Given the description of an element on the screen output the (x, y) to click on. 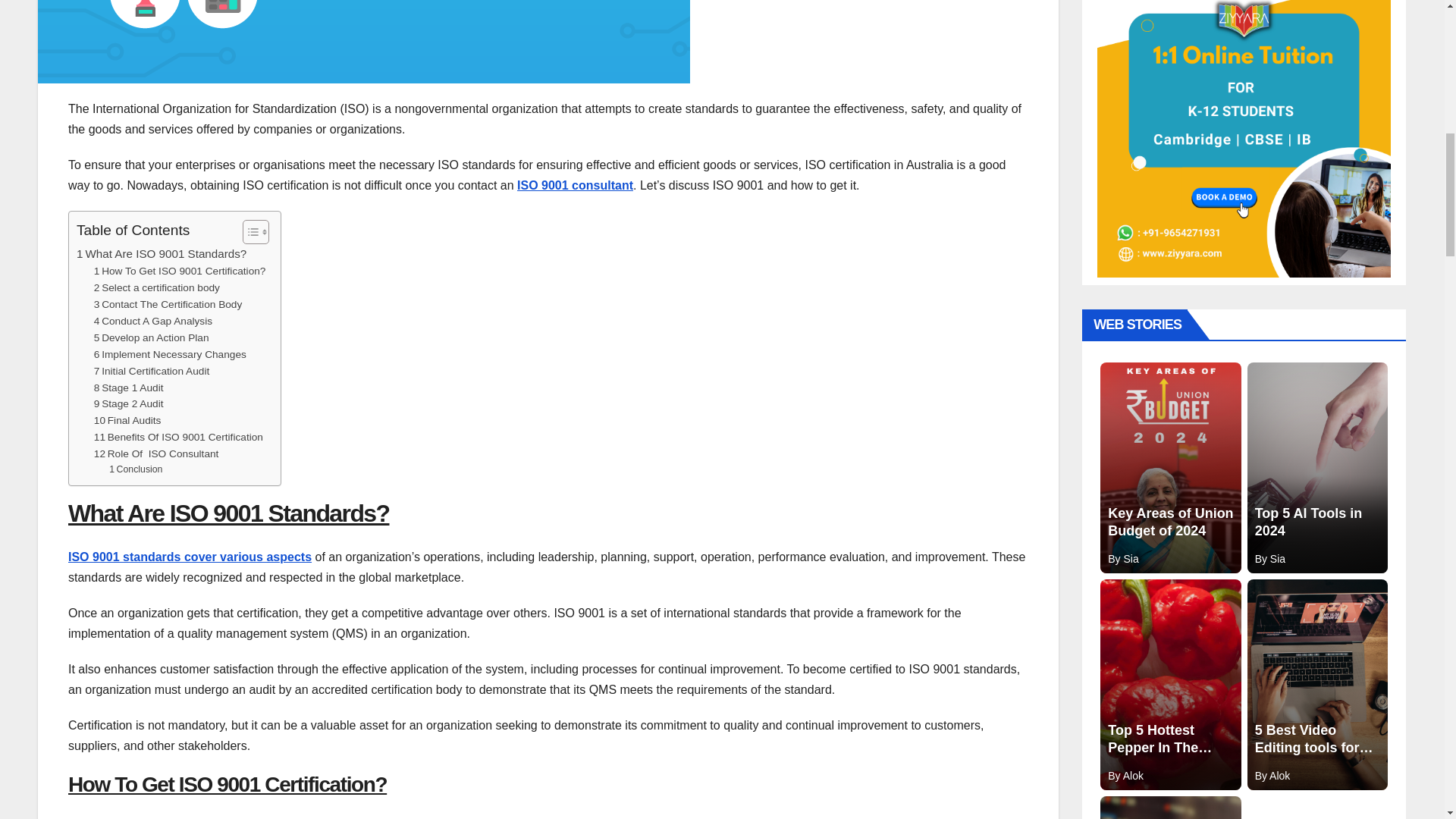
What Are ISO 9001 Standards? (161, 253)
Conduct A Gap Analysis (153, 321)
Stage 1 Audit (128, 388)
Final Audits (127, 420)
Initial Certification Audit (151, 371)
Contact The Certification Body (168, 304)
Develop an Action Plan (151, 338)
Implement Necessary Changes (170, 354)
Stage 2 Audit (128, 403)
Select a certification body (156, 288)
Benefits Of ISO 9001 Certification (178, 437)
How To Get ISO 9001 Certification? (180, 271)
